Given the description of an element on the screen output the (x, y) to click on. 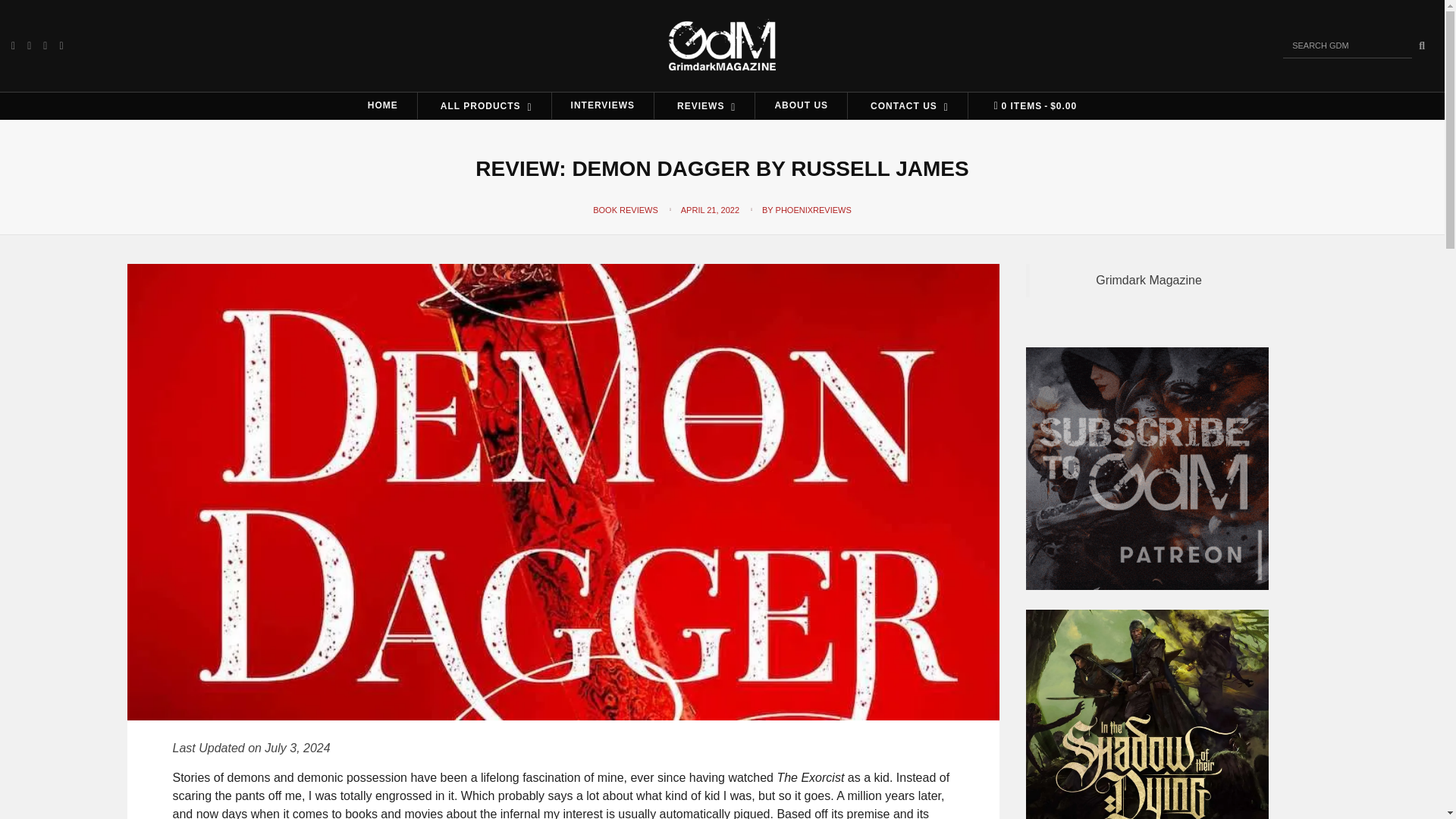
PHOENIXREVIEWS (813, 209)
Start shopping (1032, 105)
ALL PRODUCTS (484, 105)
REVIEWS (703, 105)
CONTACT US (907, 105)
HOME (382, 105)
BOOK REVIEWS (625, 209)
INTERVIEWS (602, 105)
ABOUT US (801, 105)
Search (1421, 45)
